Given the description of an element on the screen output the (x, y) to click on. 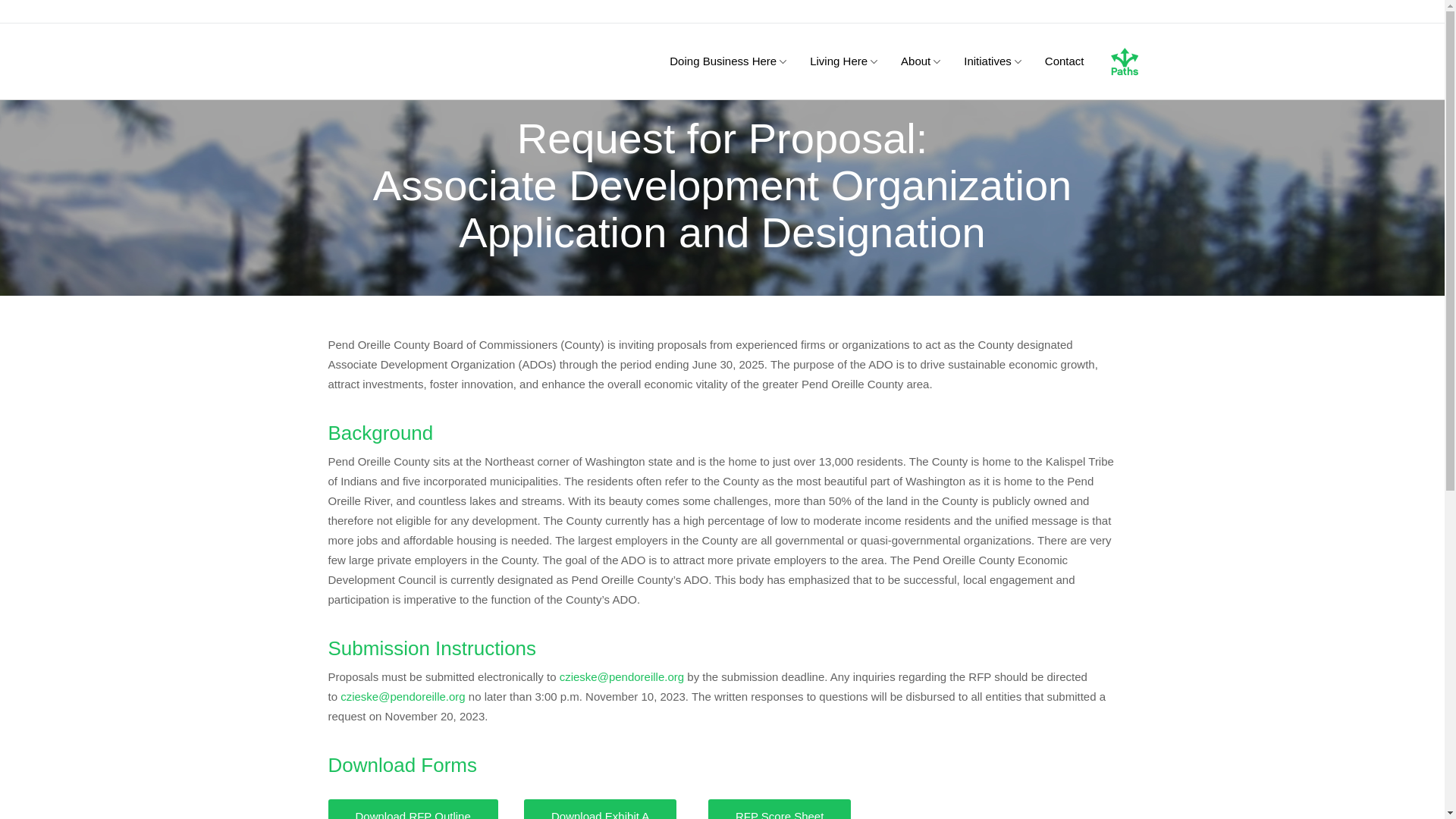
Contact (1063, 61)
Doing Business Here (722, 61)
Living Here (838, 61)
Initiatives (987, 61)
